Given the description of an element on the screen output the (x, y) to click on. 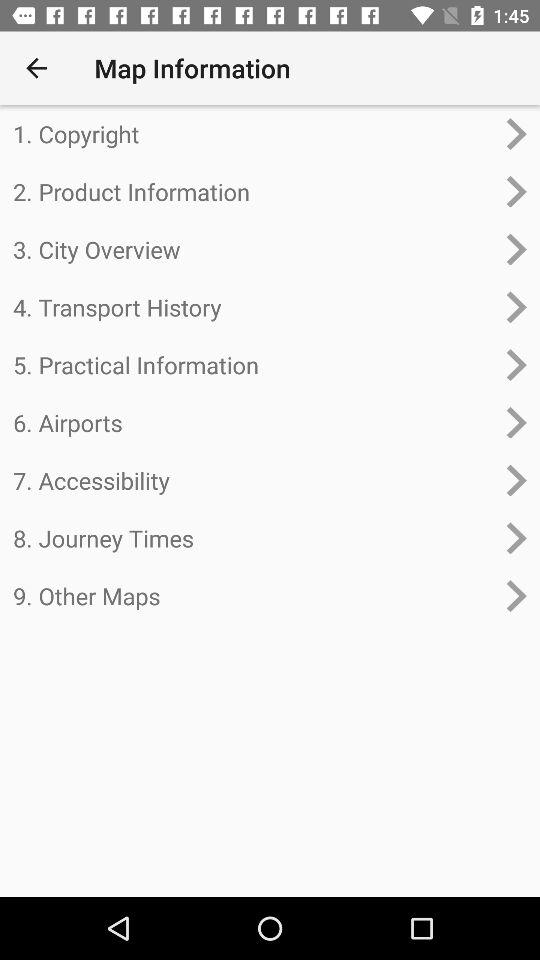
turn off the 5. practical information (253, 364)
